Given the description of an element on the screen output the (x, y) to click on. 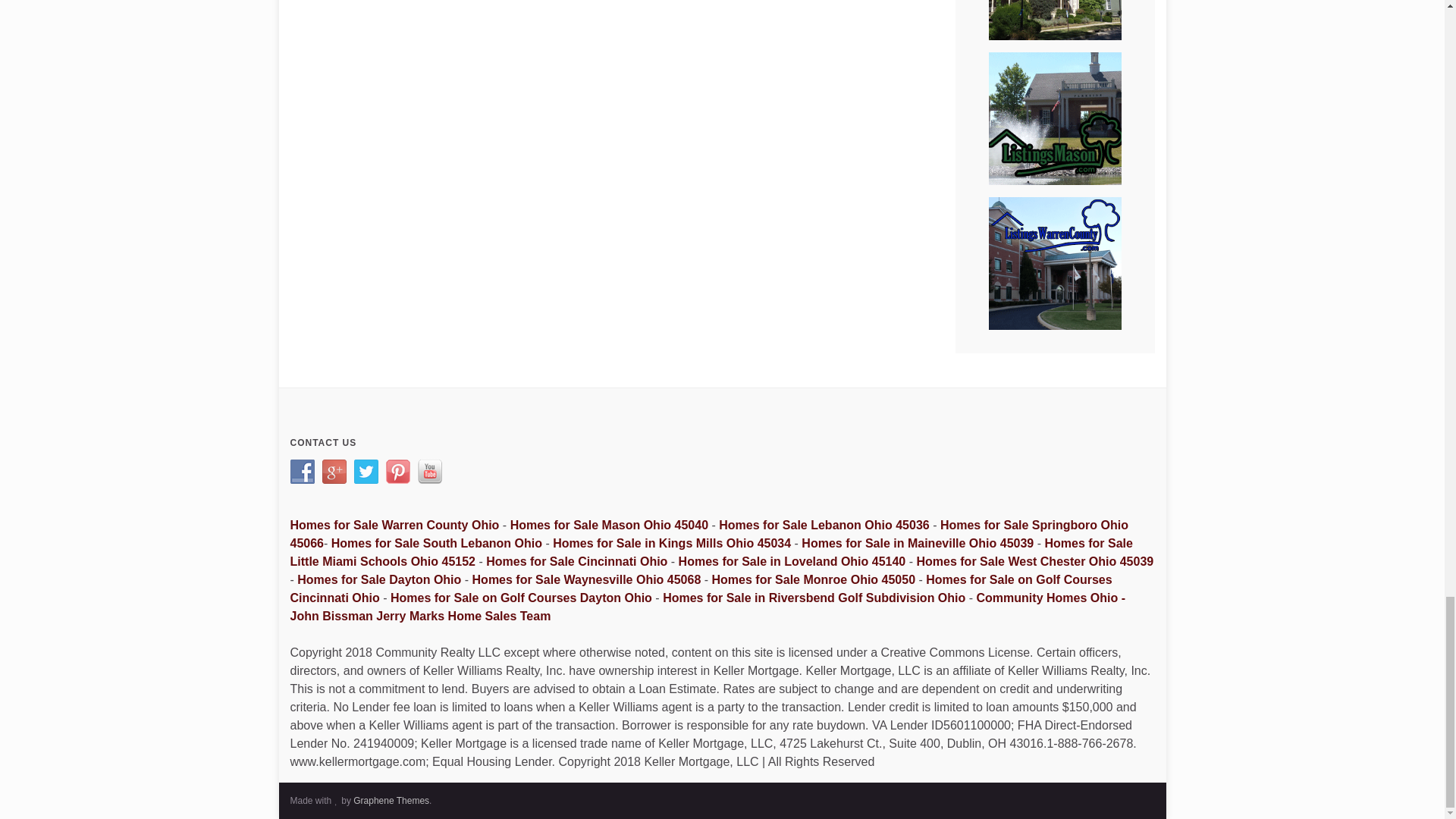
Follow Us on Pinterest (397, 471)
Follow Us on Twitter (365, 471)
Follow Us on YouTube (428, 471)
Follow Us on Facebook (301, 471)
